Given the description of an element on the screen output the (x, y) to click on. 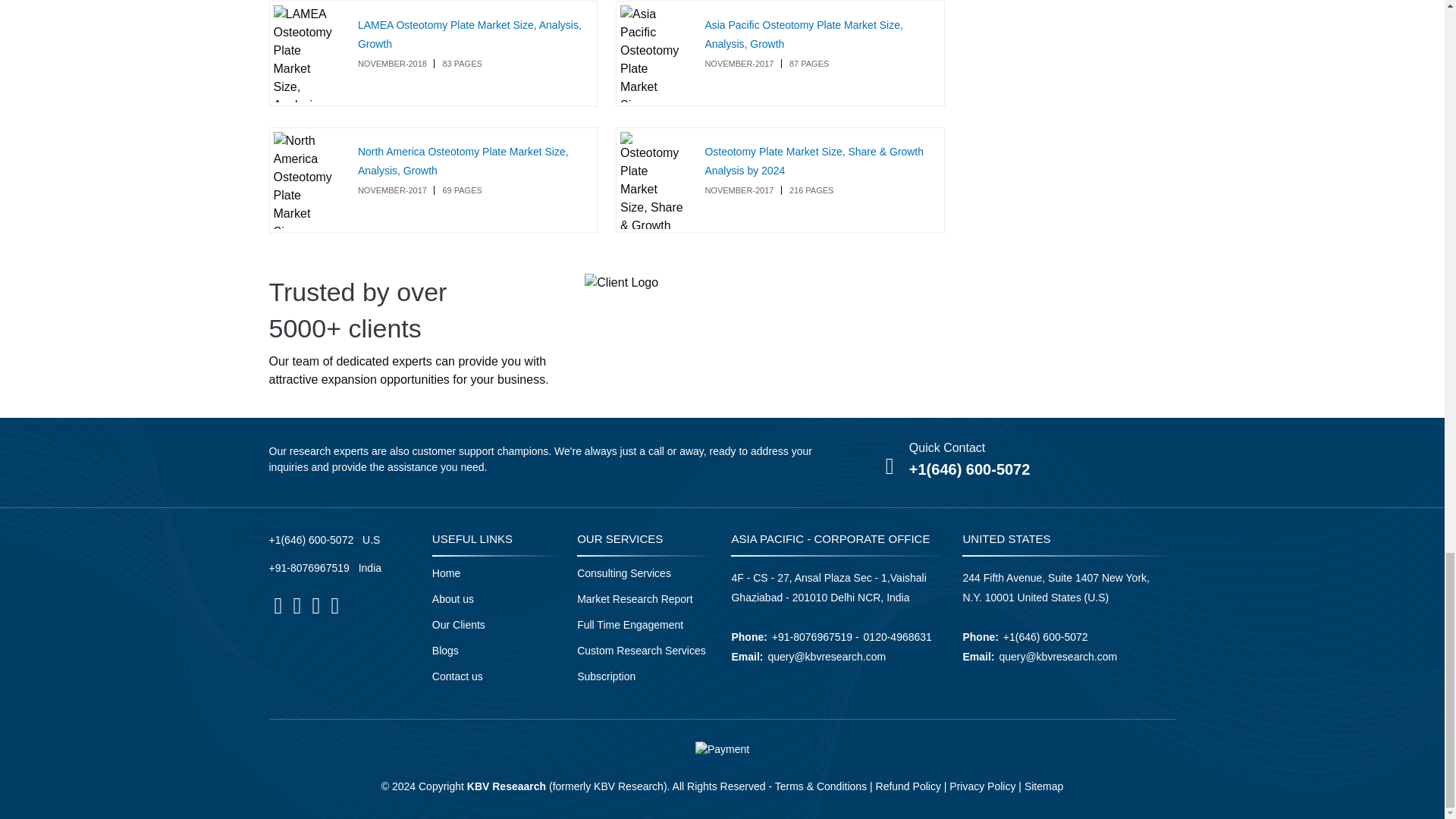
About us (453, 598)
North America Osteotomy Plate Market Size, Analysis, Growth (463, 160)
Home (446, 573)
LAMEA Osteotomy Plate Market Size, Analysis, Growth (469, 33)
Asia Pacific Osteotomy Plate Market Size, Analysis, Growth (803, 33)
Blogs (445, 650)
Client Logo (621, 282)
Our Clients (458, 624)
Contact us (457, 675)
